Given the description of an element on the screen output the (x, y) to click on. 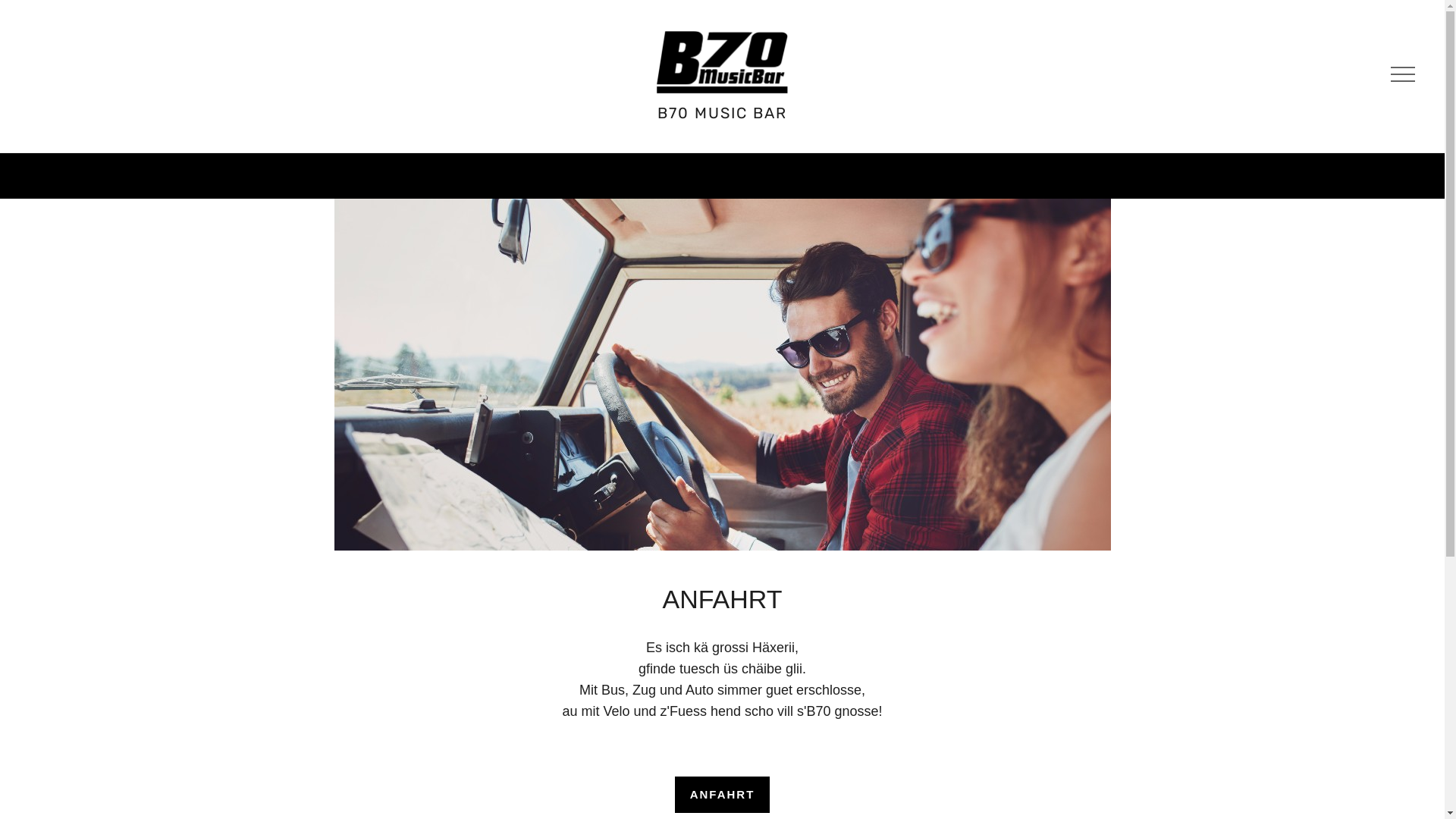
B70 Music Bar Element type: hover (721, 60)
MENU Element type: text (1400, 75)
ANFAHRT Element type: text (722, 794)
B70 MUSIC BAR Element type: text (722, 112)
